Given the description of an element on the screen output the (x, y) to click on. 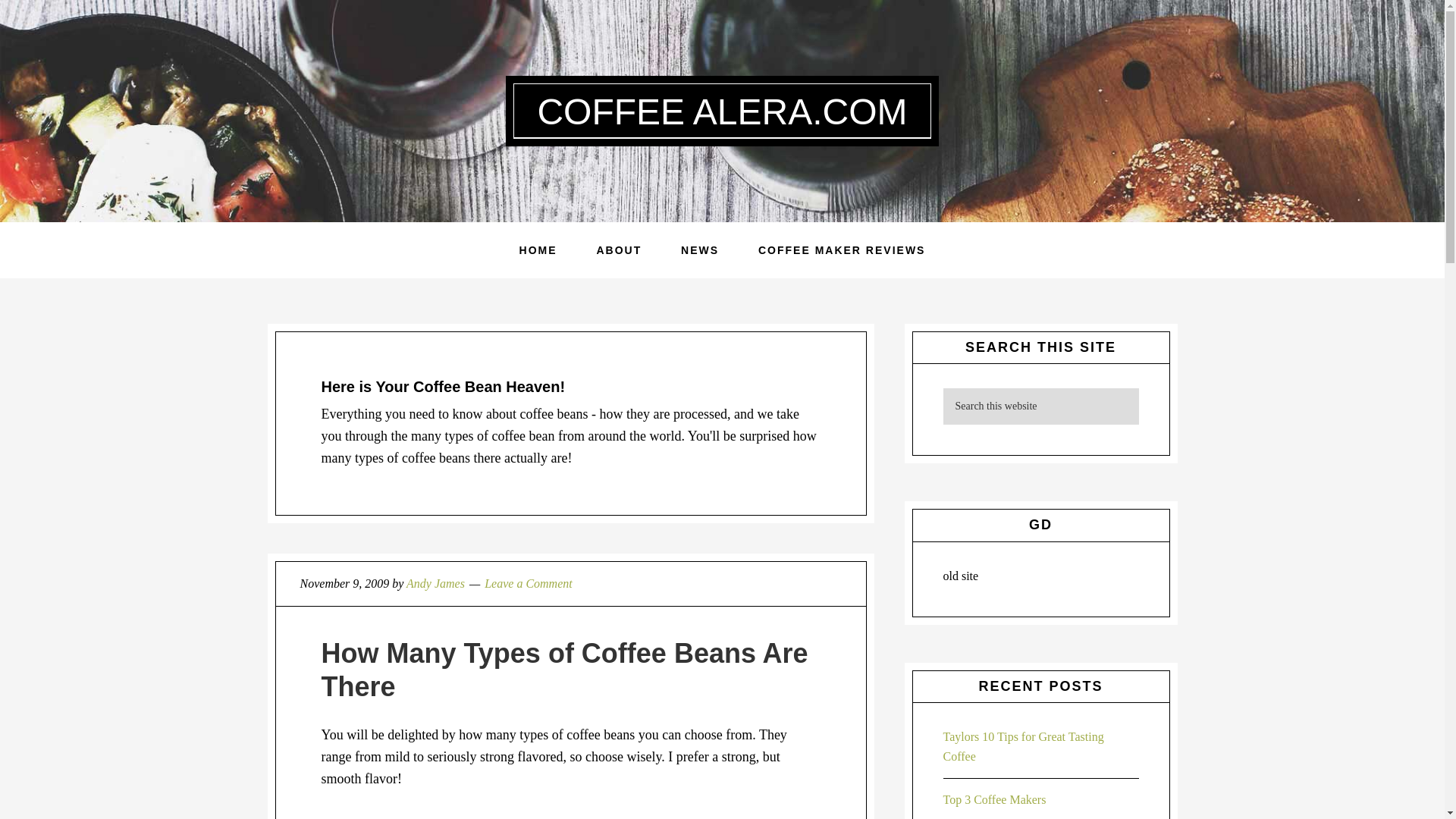
Taylors 10 Tips for Great Tasting Coffee (1023, 746)
COFFEE ALERA.COM (722, 111)
Top 3 Coffee Makers (994, 799)
HOME (537, 249)
Leave a Comment (528, 583)
ABOUT (618, 249)
Andy James (435, 583)
NEWS (699, 249)
COFFEE MAKER REVIEWS (841, 249)
How Many Types of Coffee Beans Are There (564, 669)
